Given the description of an element on the screen output the (x, y) to click on. 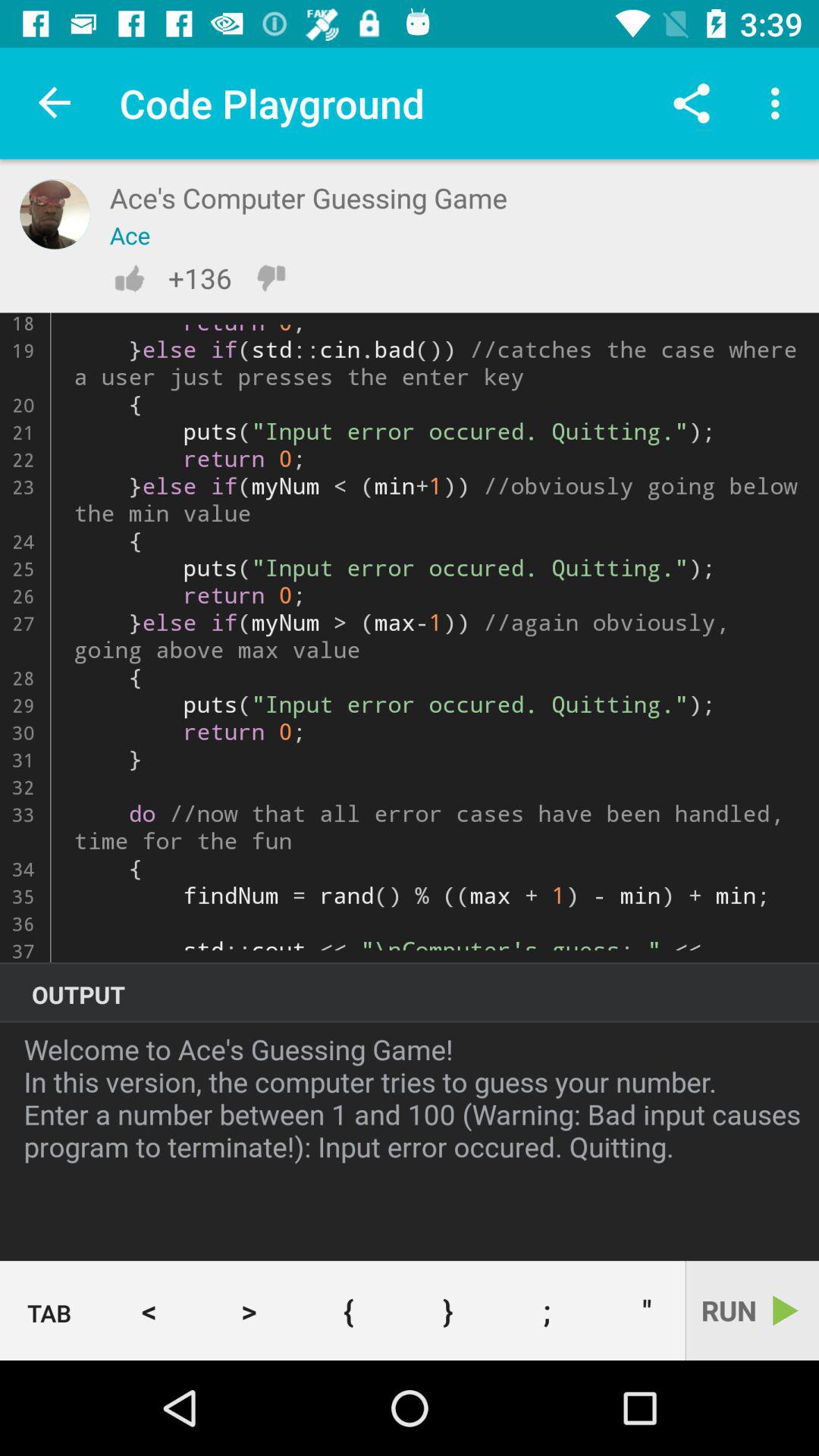
tap include iostream include at the center (409, 637)
